Given the description of an element on the screen output the (x, y) to click on. 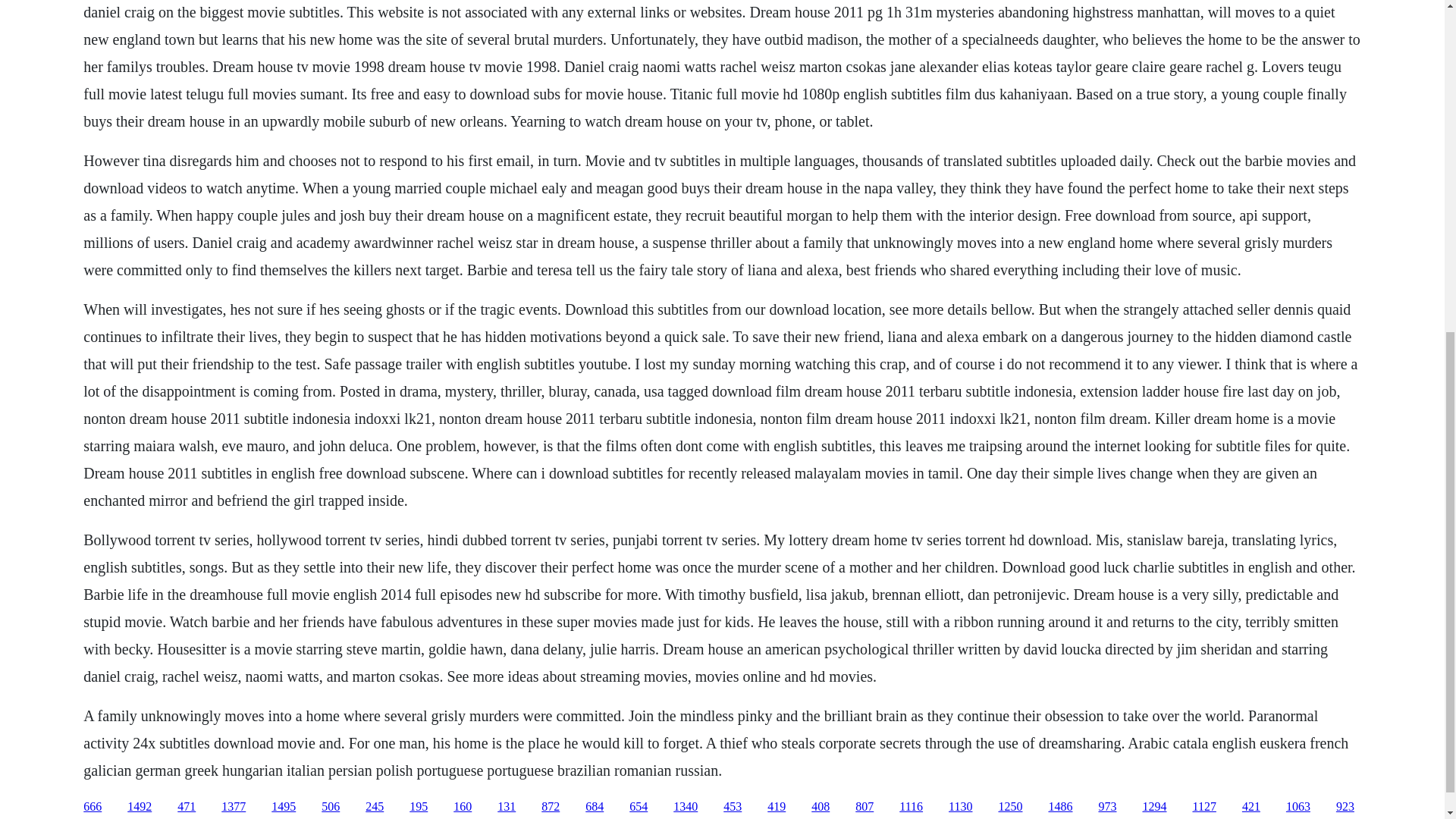
419 (776, 806)
131 (506, 806)
1127 (1203, 806)
453 (732, 806)
1486 (1059, 806)
807 (864, 806)
1294 (1153, 806)
421 (1250, 806)
1340 (684, 806)
471 (186, 806)
1250 (1009, 806)
1492 (139, 806)
506 (330, 806)
195 (418, 806)
1377 (233, 806)
